Given the description of an element on the screen output the (x, y) to click on. 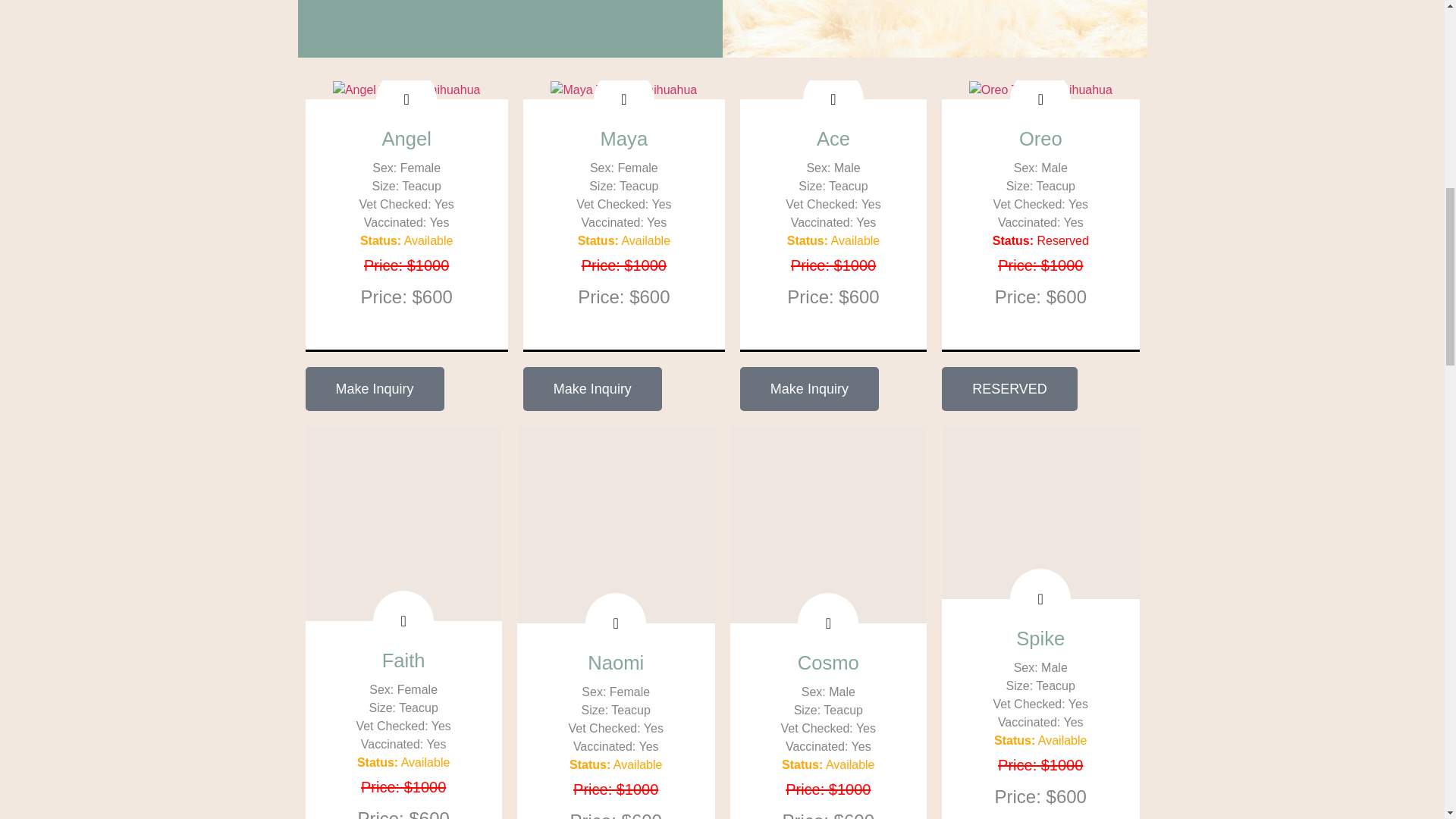
Make Inquiry (374, 388)
RESERVED (1009, 388)
Make Inquiry (592, 388)
Make Inquiry (809, 388)
